Given the description of an element on the screen output the (x, y) to click on. 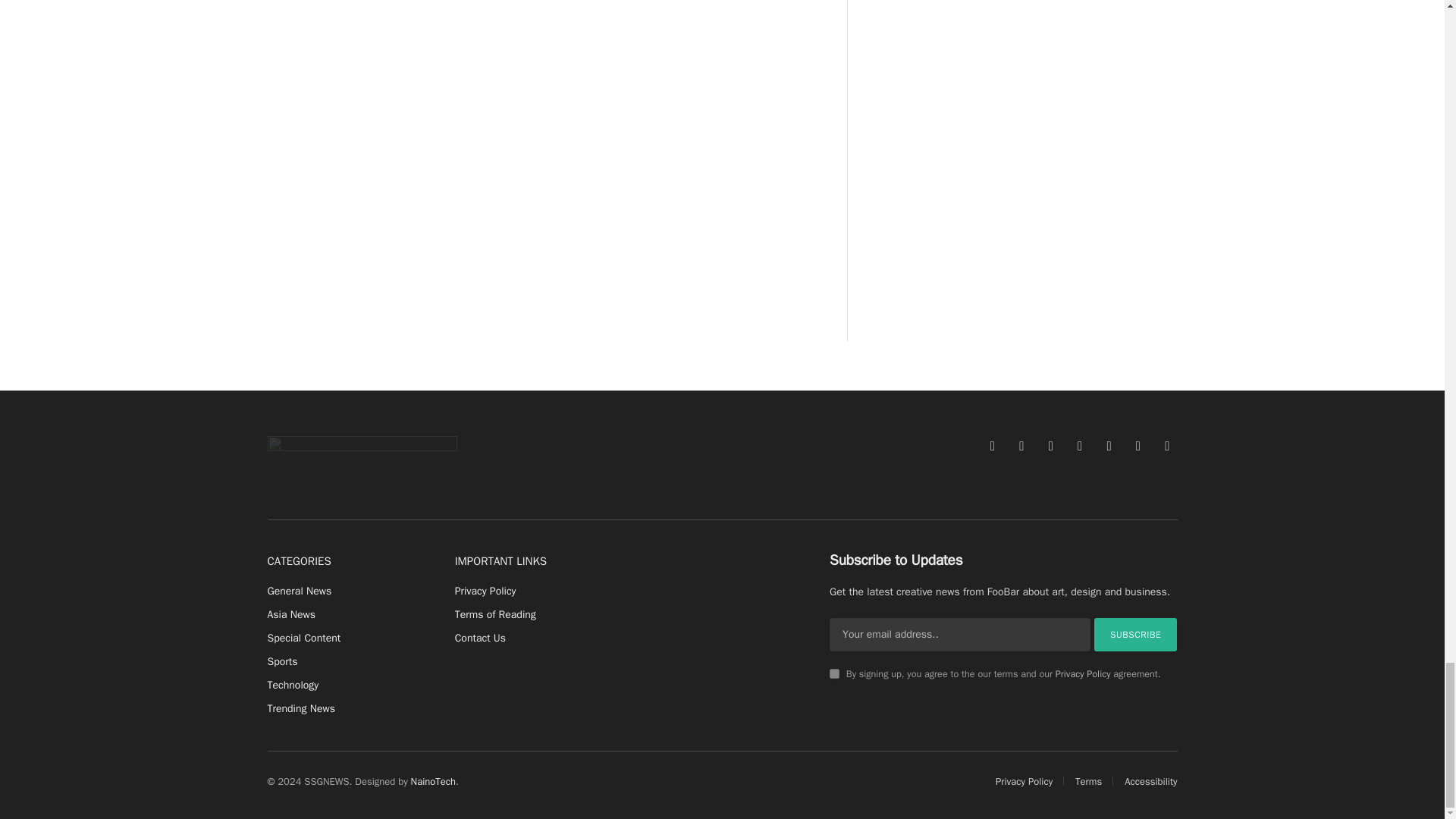
on (834, 673)
Subscribe (1135, 634)
